Given the description of an element on the screen output the (x, y) to click on. 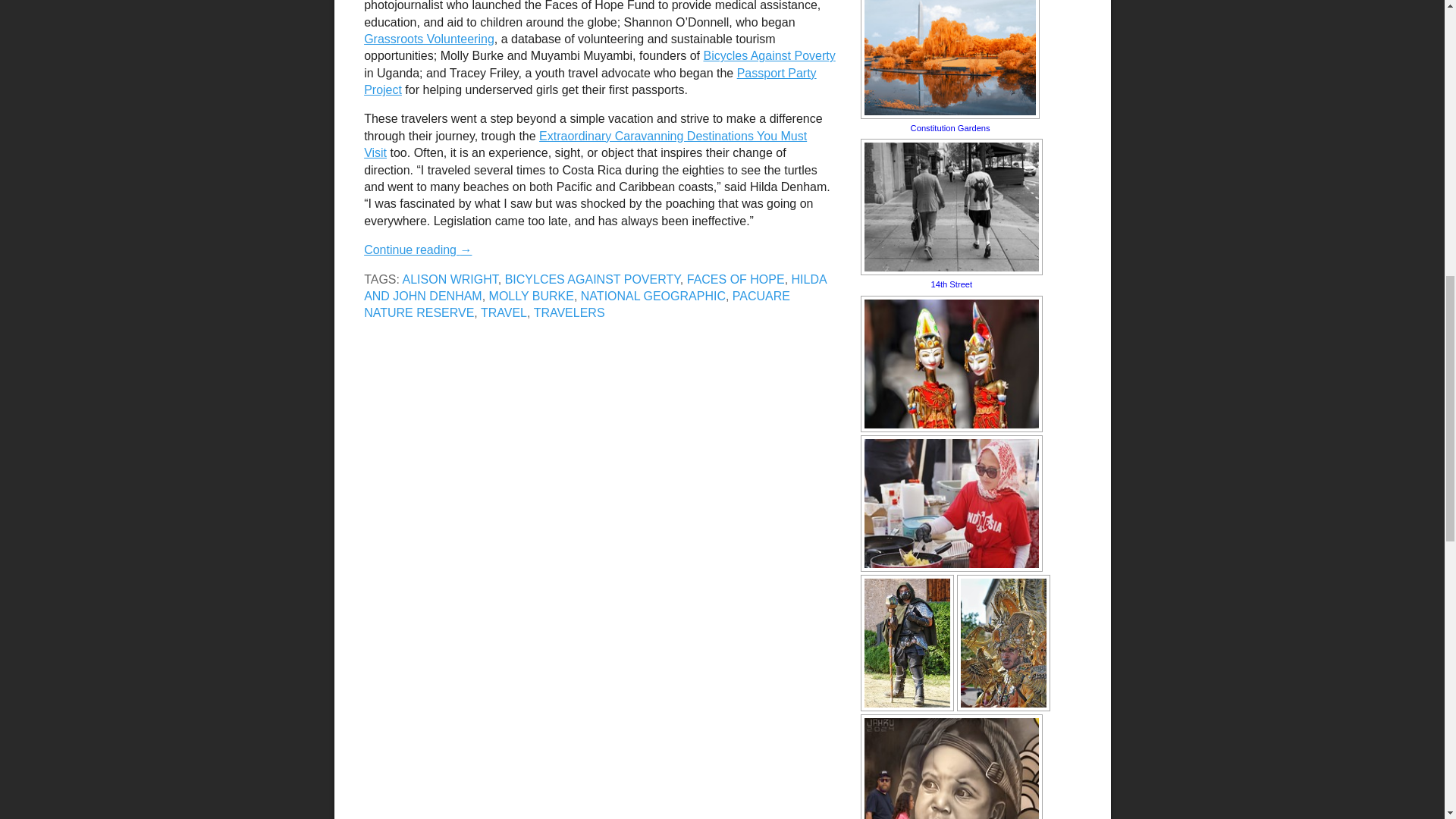
ALISON WRIGHT (450, 278)
TRAVELERS (569, 312)
NATIONAL GEOGRAPHIC (652, 295)
Grassroots Volunteering (429, 38)
MOLLY BURKE (531, 295)
TRAVEL (503, 312)
Grassroots Volunteering (429, 38)
BICYLCES AGAINST POVERTY (592, 278)
